Given the description of an element on the screen output the (x, y) to click on. 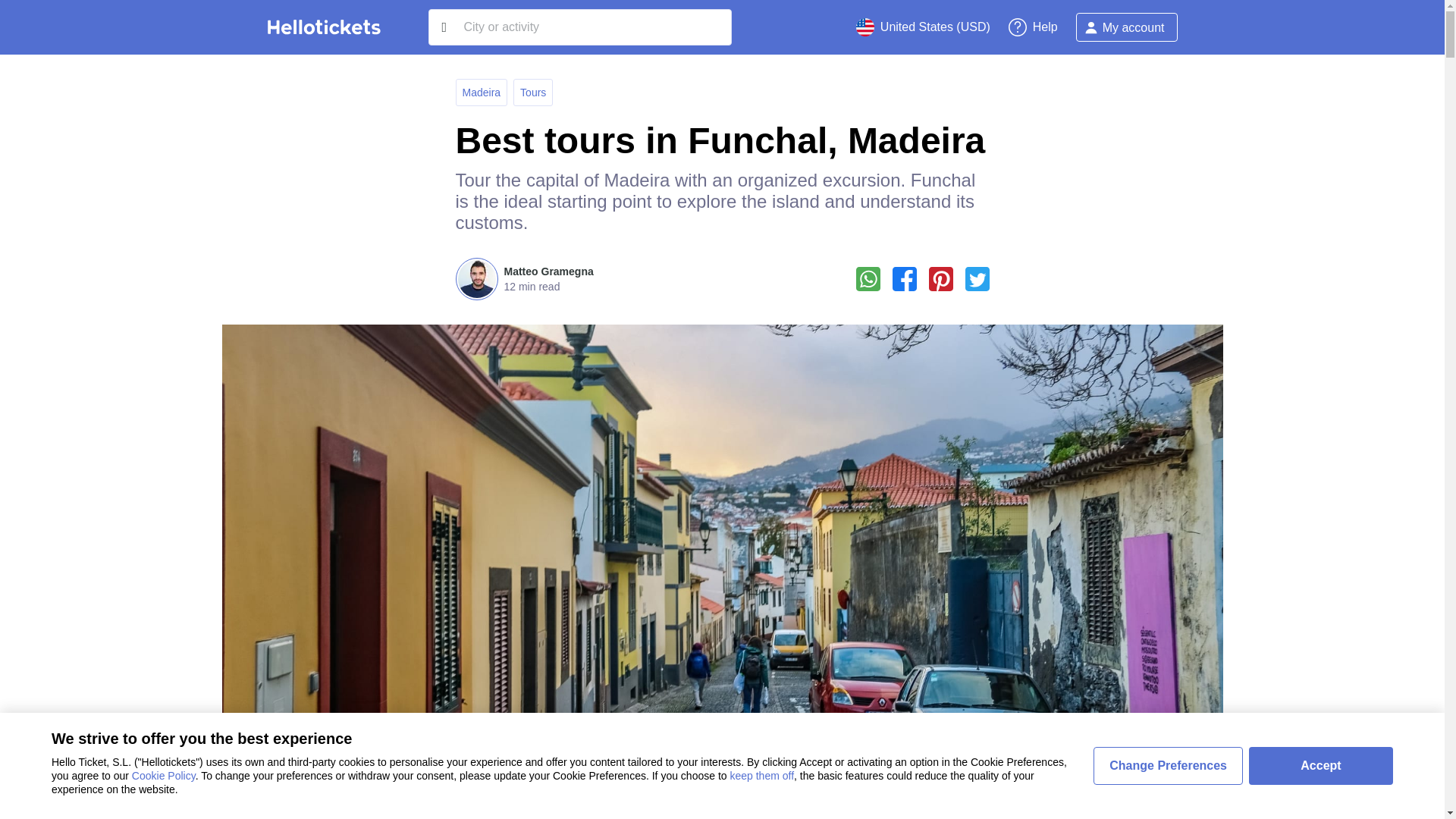
Help (1032, 27)
My account (1126, 27)
Tours (532, 92)
Madeira (481, 92)
